Given the description of an element on the screen output the (x, y) to click on. 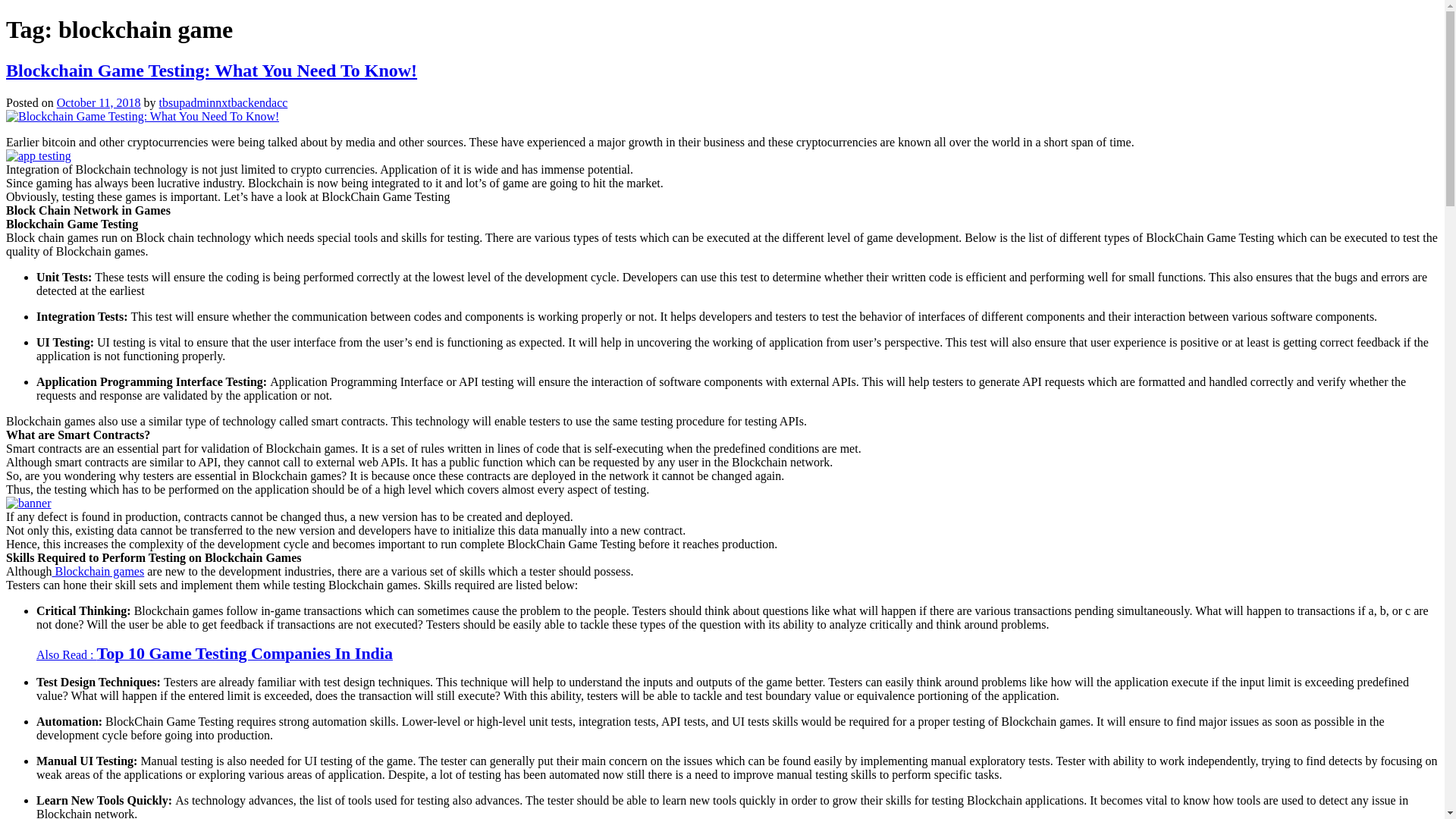
tbsupadminnxtbackendacc (223, 102)
Also Read : Top 10 Game Testing Companies In India (214, 654)
October 11, 2018 (98, 102)
Blockchain games (97, 571)
Blockchain Game Testing: What You Need To Know! (210, 70)
